Given the description of an element on the screen output the (x, y) to click on. 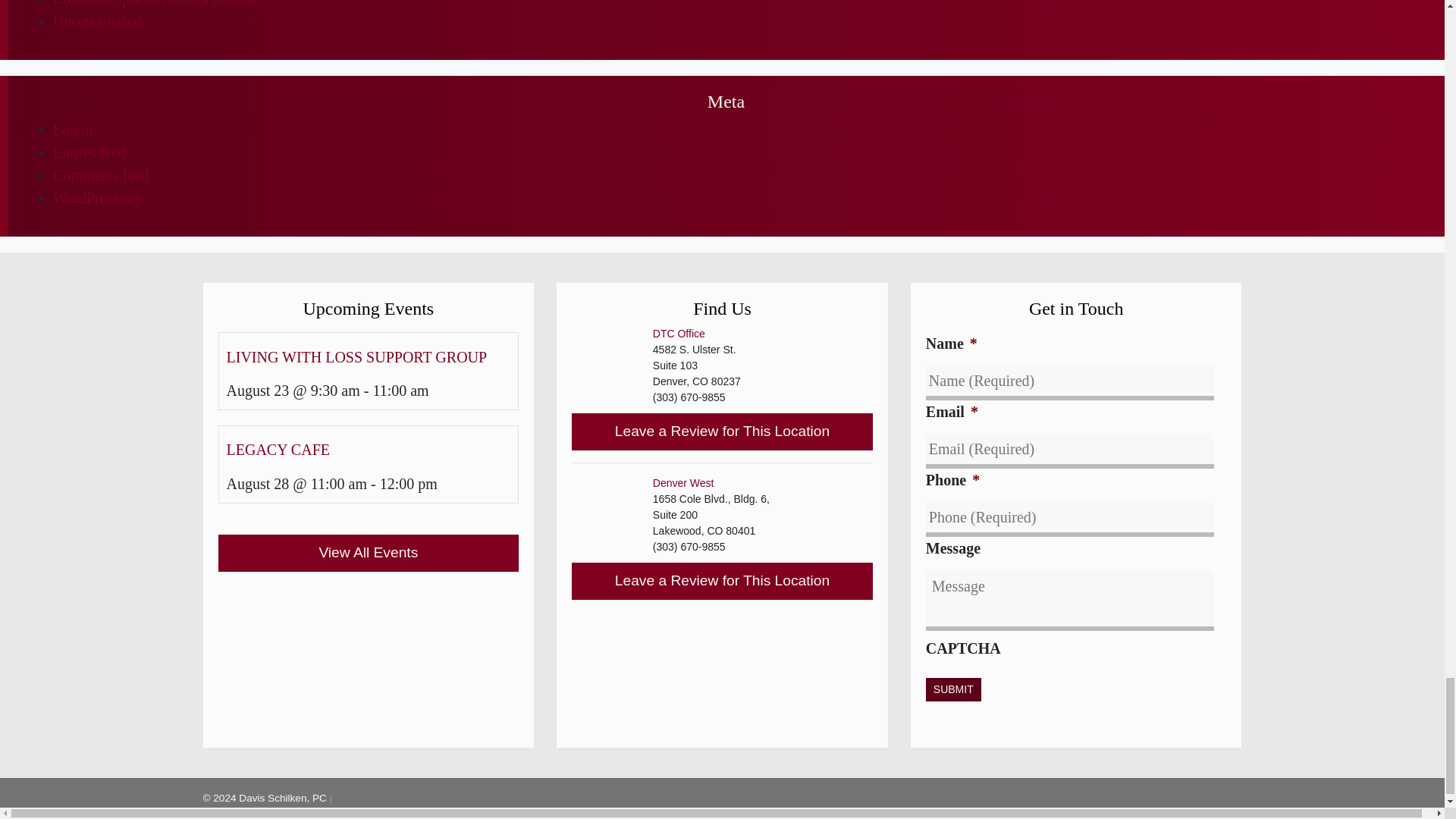
Submit (953, 689)
